Given the description of an element on the screen output the (x, y) to click on. 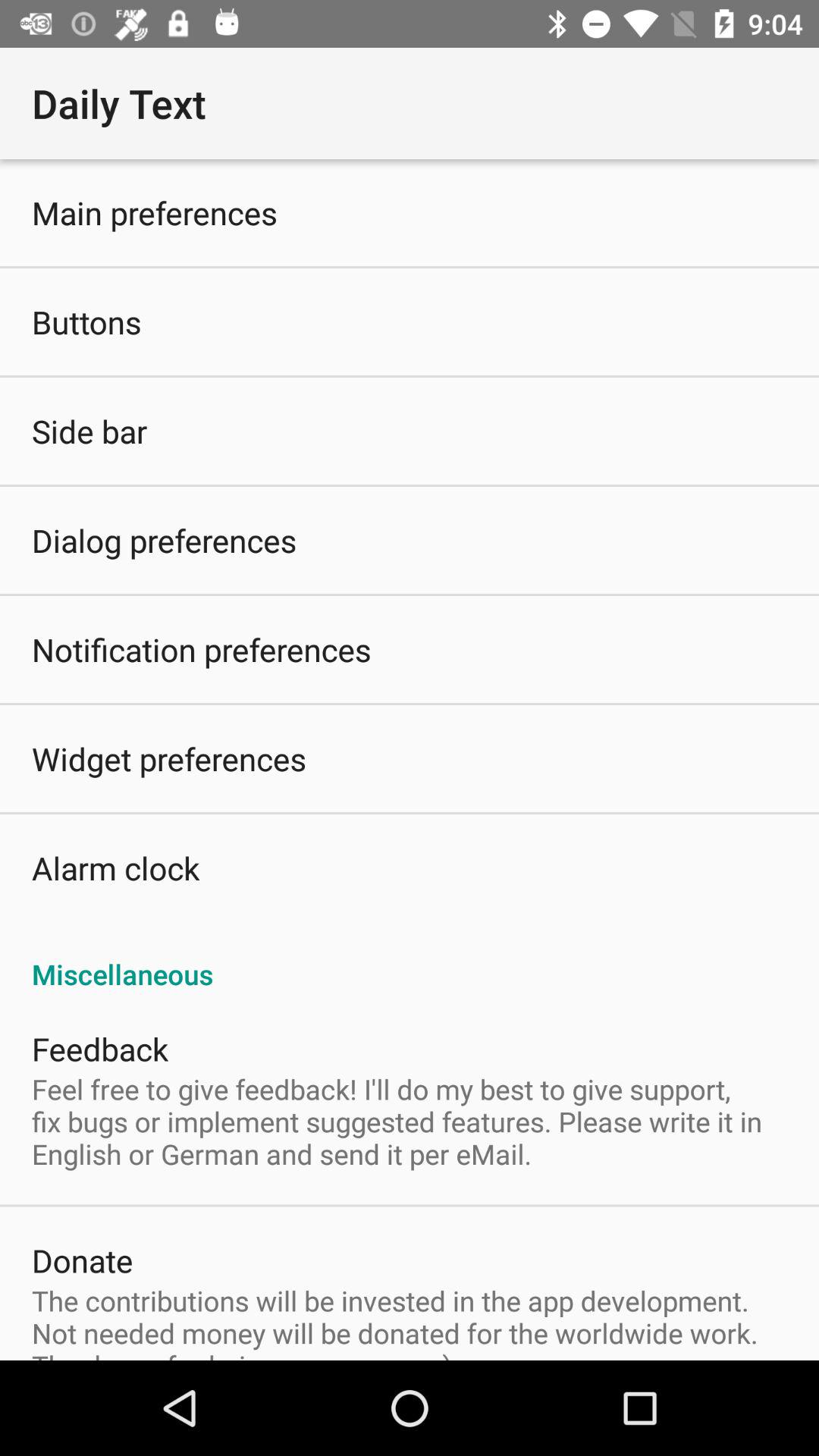
turn on buttons icon (86, 321)
